Given the description of an element on the screen output the (x, y) to click on. 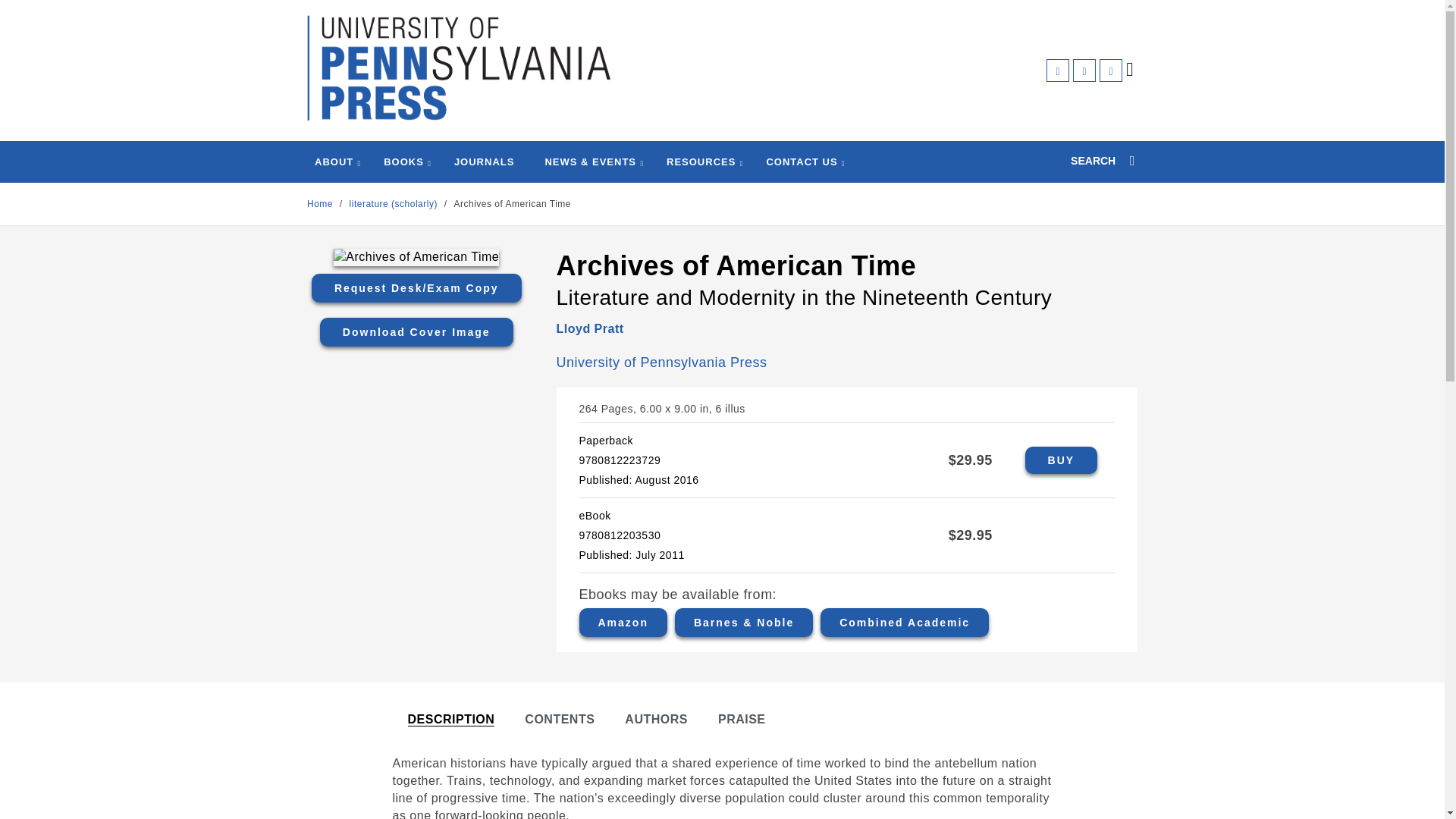
Follow us on Facebook (1057, 69)
JOURNALS (484, 161)
ABOUT (333, 161)
Follow us on Instagram (1110, 69)
Back to homepage (320, 204)
BOOKS (403, 161)
Combined Academic (904, 622)
RESOURCES (700, 161)
Amazon (622, 622)
Paperback (1061, 460)
